Given the description of an element on the screen output the (x, y) to click on. 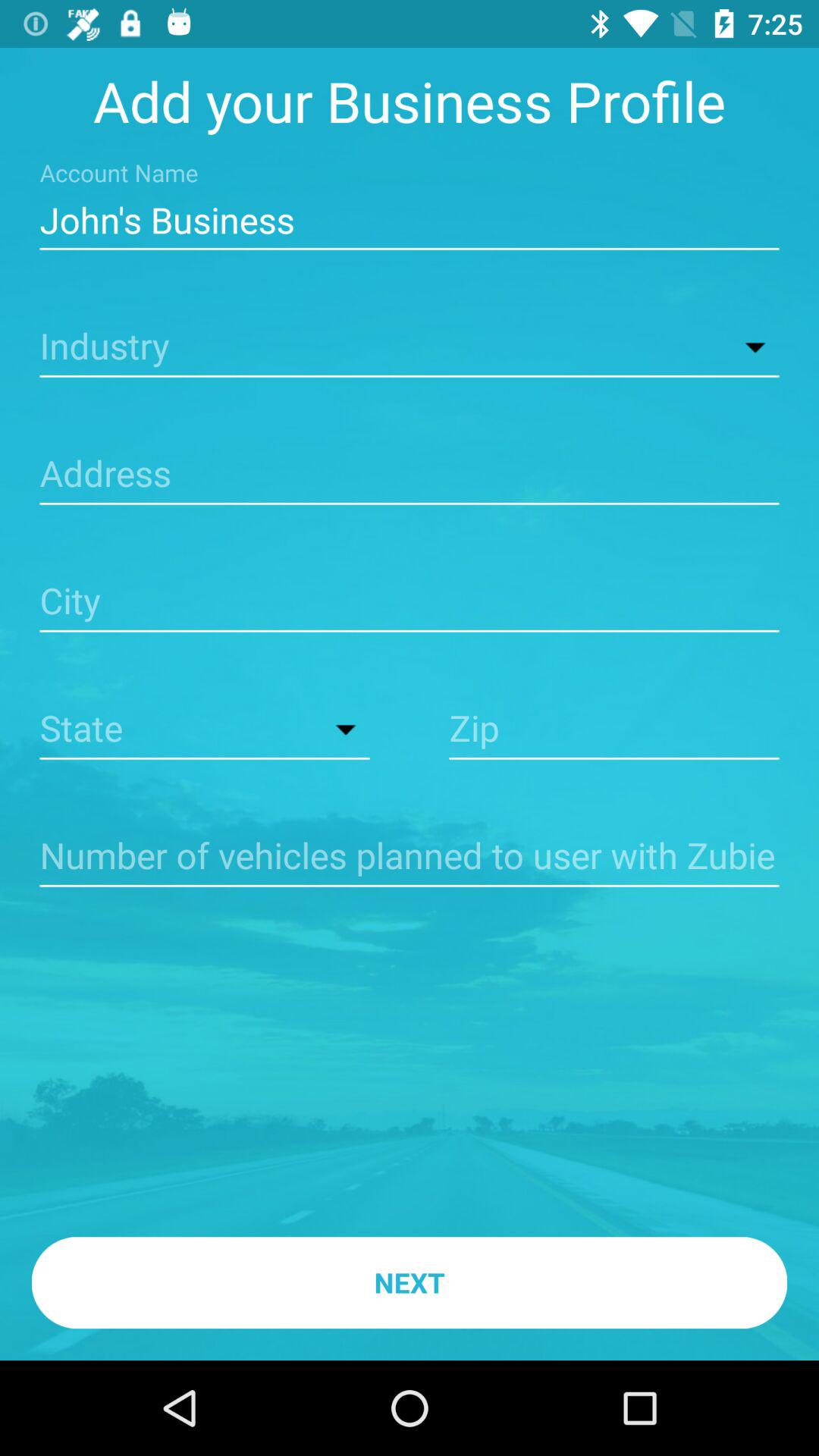
to enter state detail (204, 730)
